Given the description of an element on the screen output the (x, y) to click on. 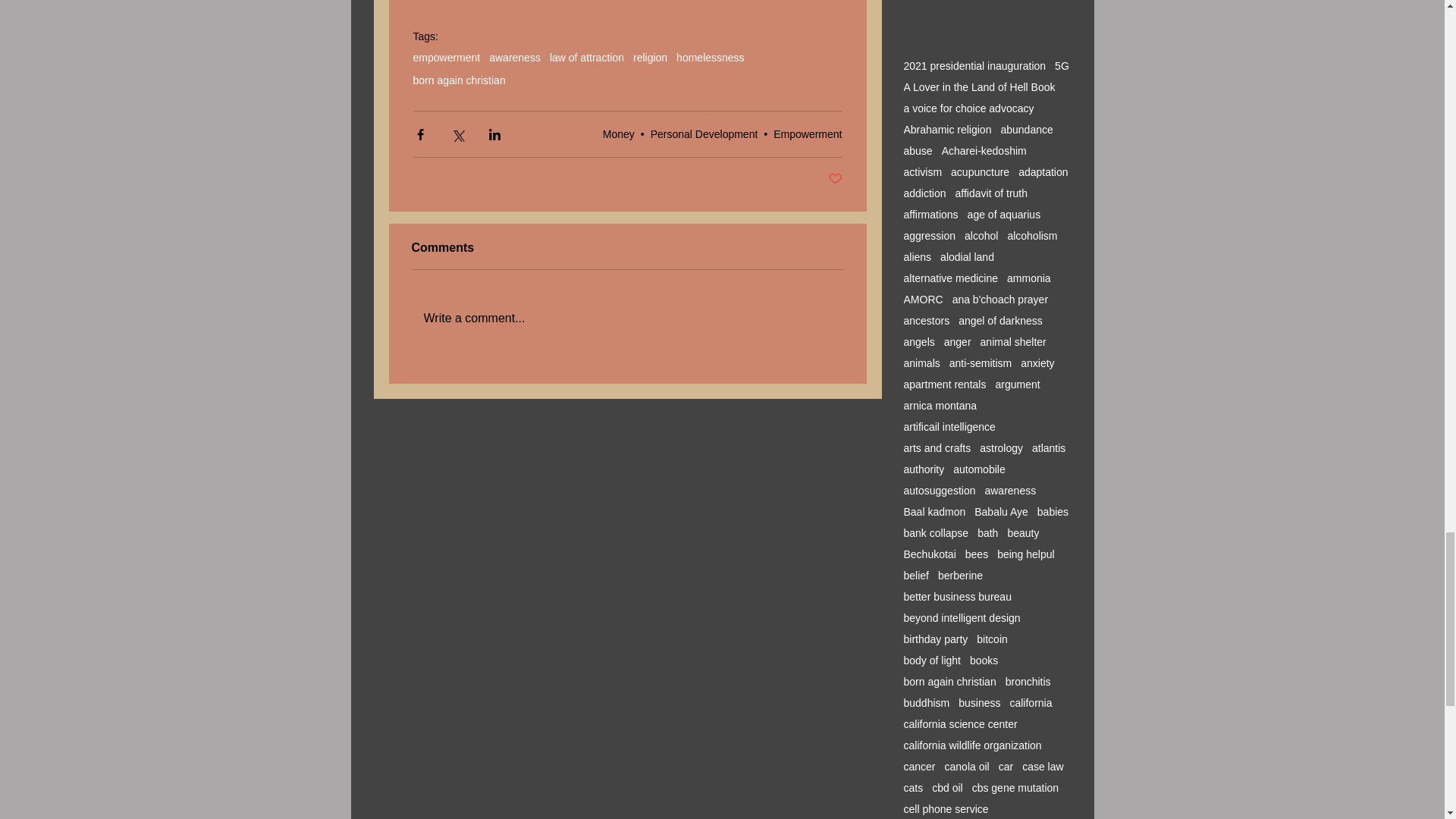
Post not marked as liked (835, 179)
Personal Development (704, 133)
Money (618, 133)
law of attraction (587, 57)
born again christian (458, 80)
Empowerment (807, 133)
homelessness (710, 57)
Write a comment... (626, 318)
religion (649, 57)
awareness (514, 57)
empowerment (446, 57)
